Given the description of an element on the screen output the (x, y) to click on. 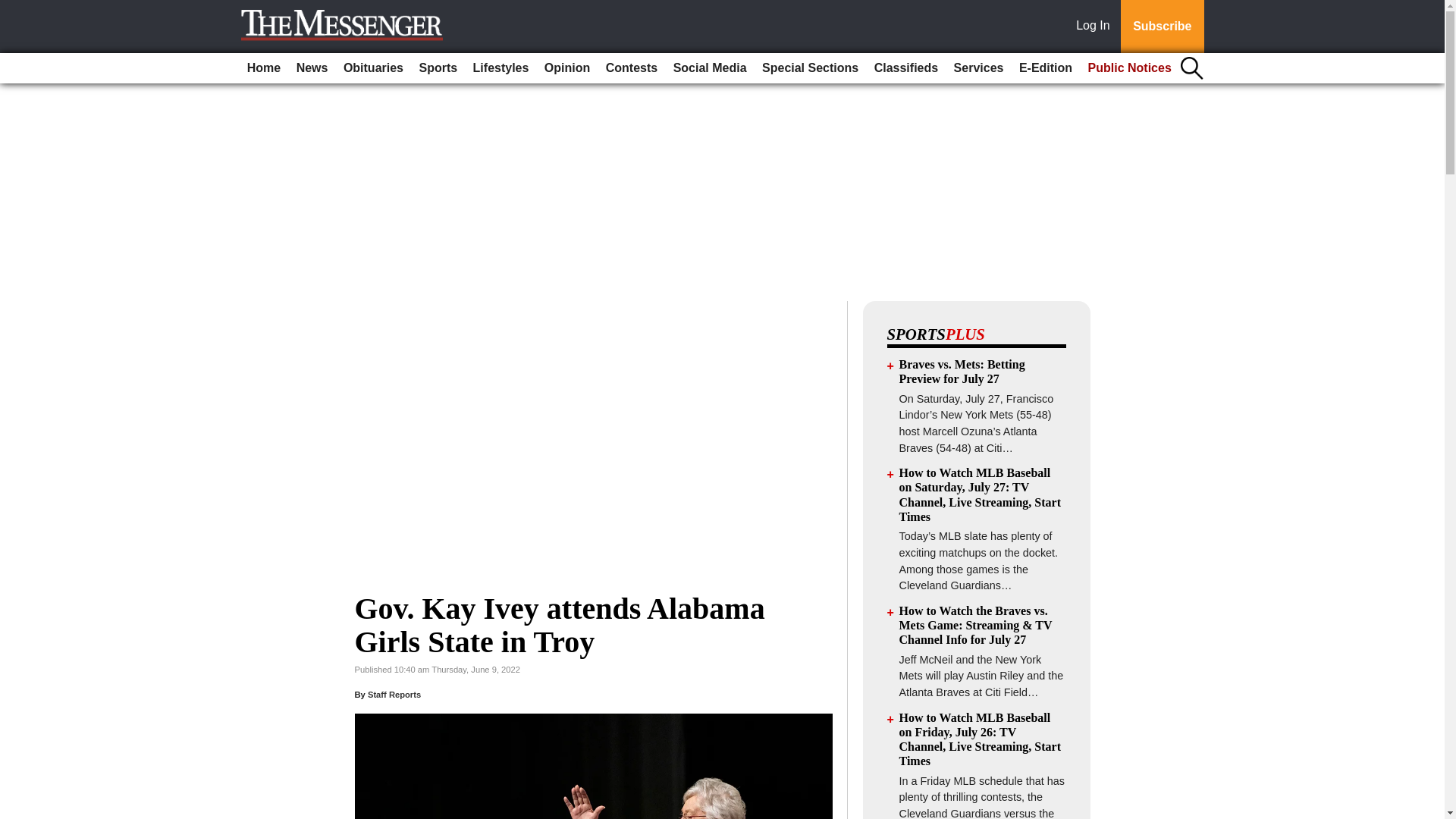
Social Media (709, 68)
Special Sections (809, 68)
Lifestyles (501, 68)
Services (978, 68)
News (311, 68)
Log In (1095, 26)
E-Edition (1045, 68)
Obituaries (373, 68)
Subscribe (1162, 26)
Home (263, 68)
Sports (437, 68)
Classifieds (905, 68)
Opinion (566, 68)
Contests (631, 68)
